Given the description of an element on the screen output the (x, y) to click on. 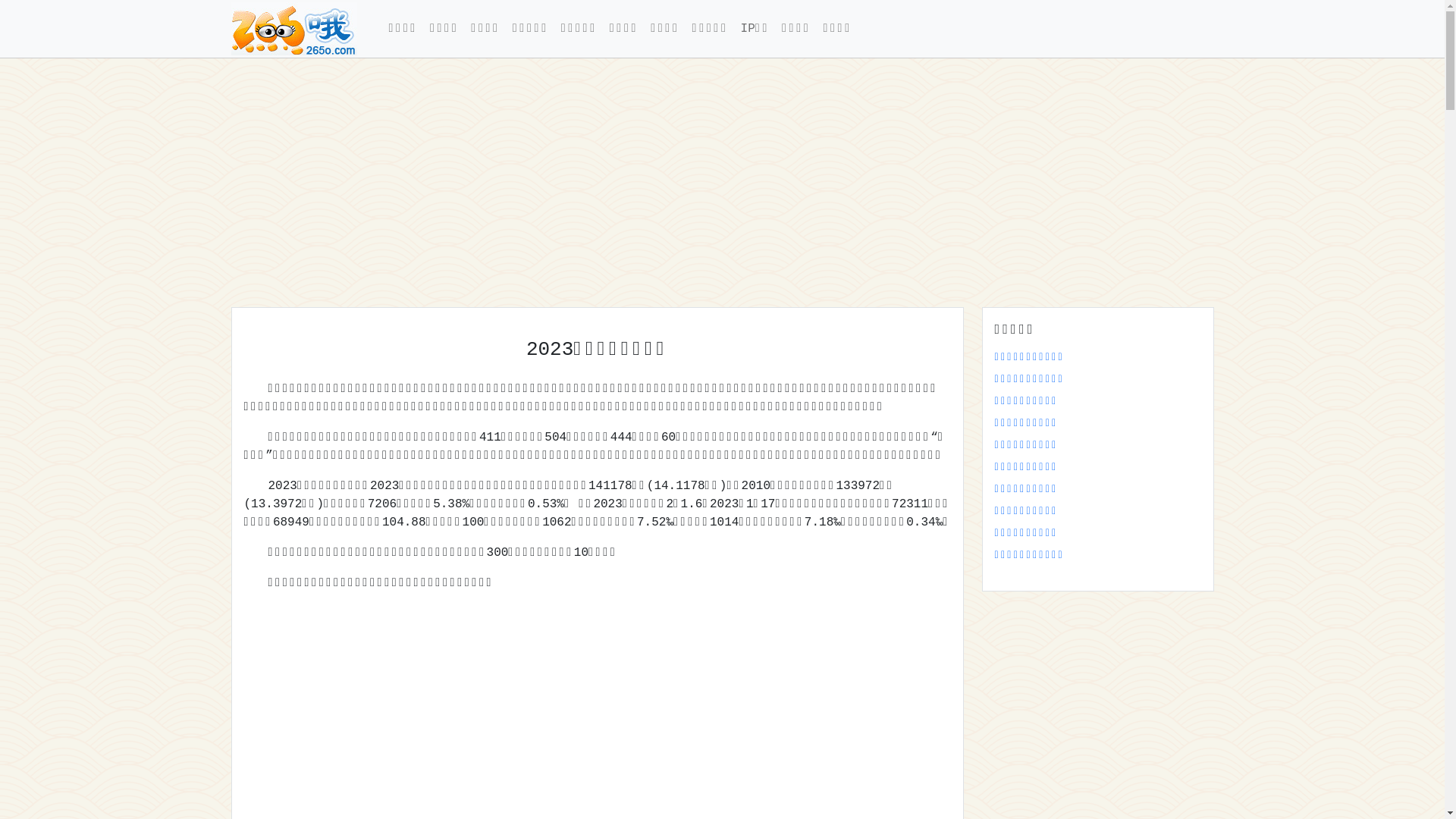
Advertisement Element type: hover (597, 710)
Advertisement Element type: hover (685, 182)
